Given the description of an element on the screen output the (x, y) to click on. 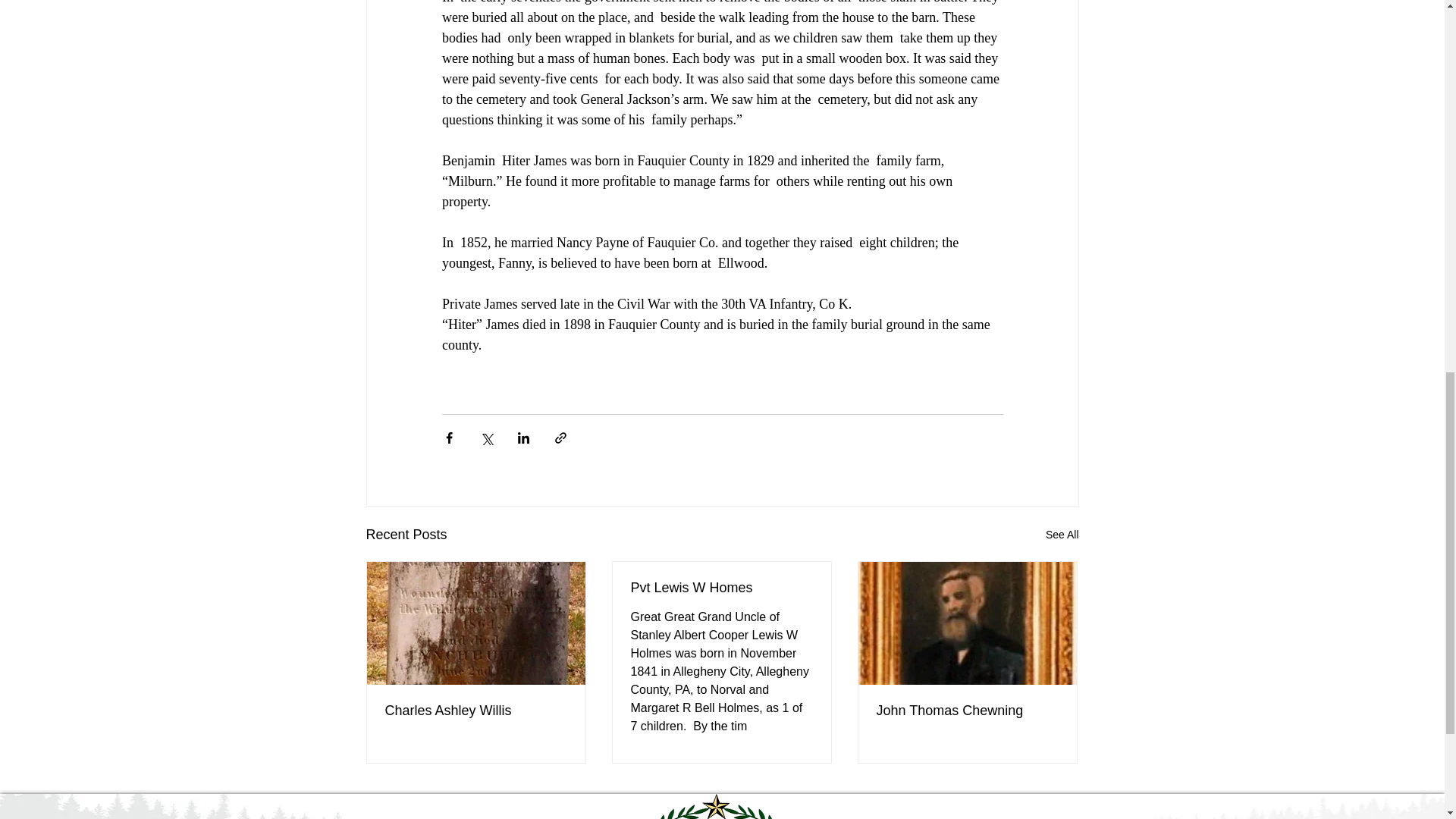
See All (1061, 535)
Pvt Lewis W Homes (721, 587)
DONATE NOW (451, 816)
John Thomas Chewning (967, 710)
Charles Ashley Willis (476, 710)
